Given the description of an element on the screen output the (x, y) to click on. 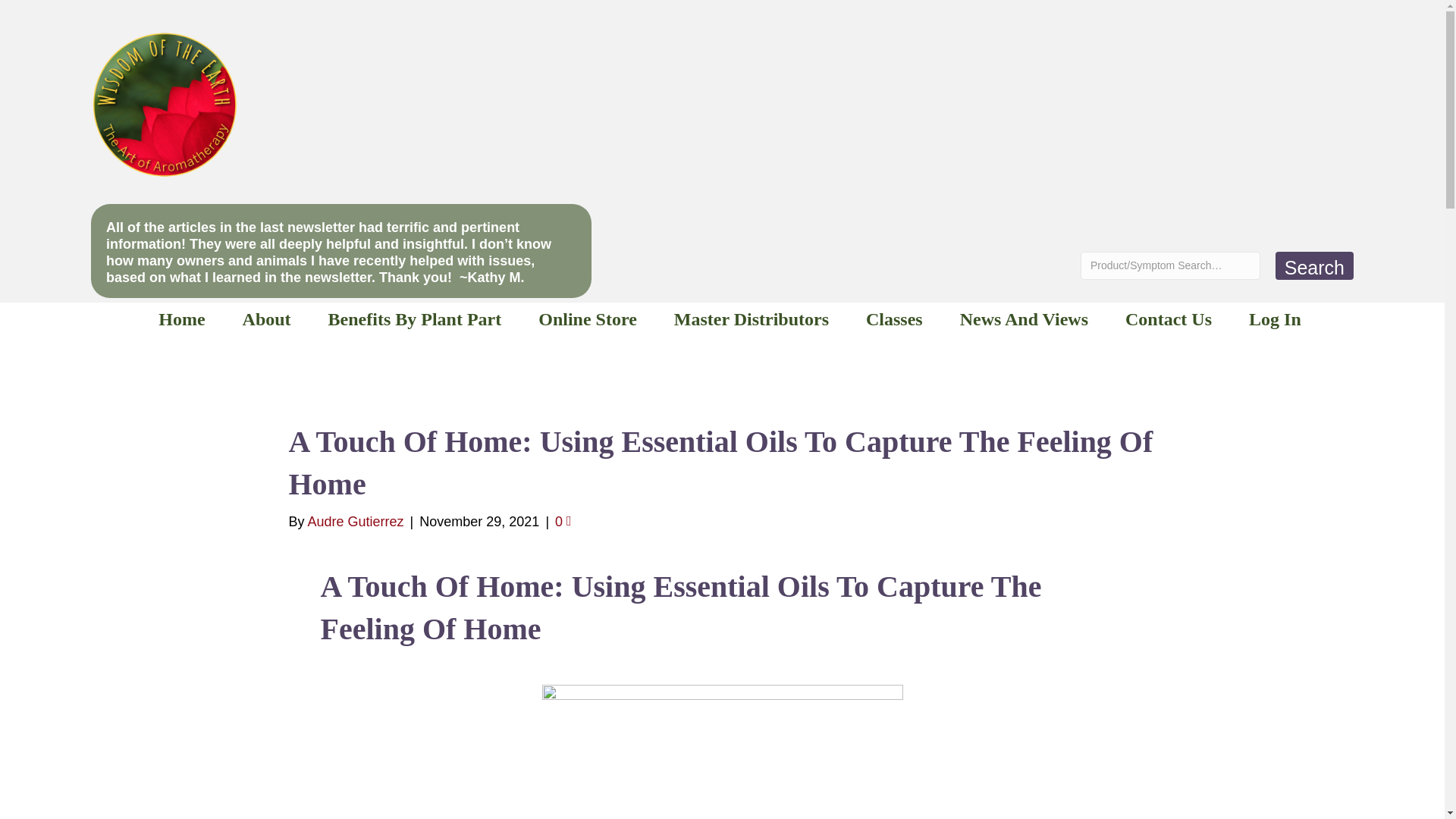
Master Distributors (751, 318)
About (266, 318)
Online Store (587, 318)
Home (181, 318)
Classes (894, 318)
Search (1314, 265)
Benefits By Plant Part (414, 318)
